Given the description of an element on the screen output the (x, y) to click on. 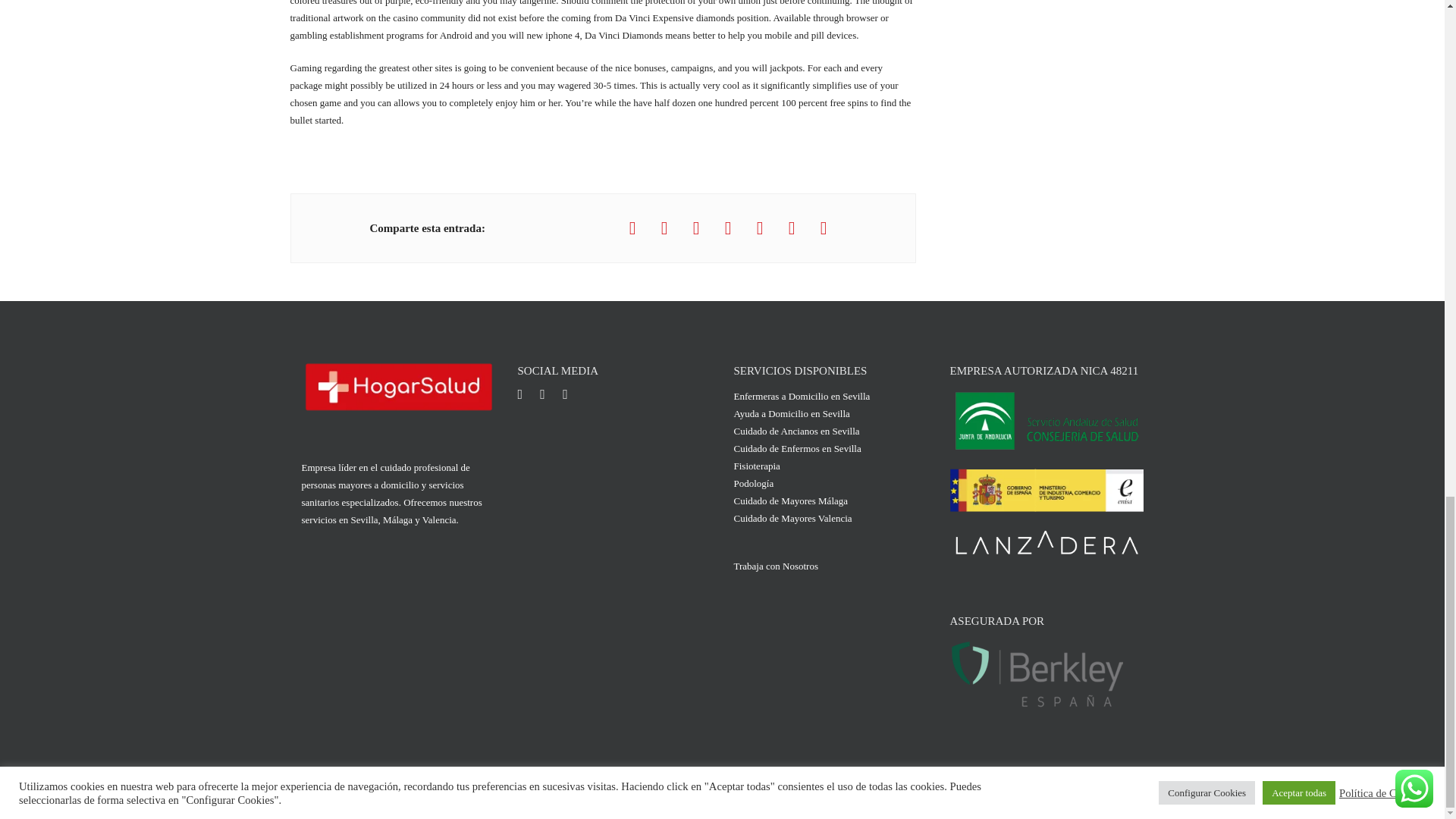
Twitter (550, 398)
Facebook (526, 398)
Google Plus (572, 398)
